Given the description of an element on the screen output the (x, y) to click on. 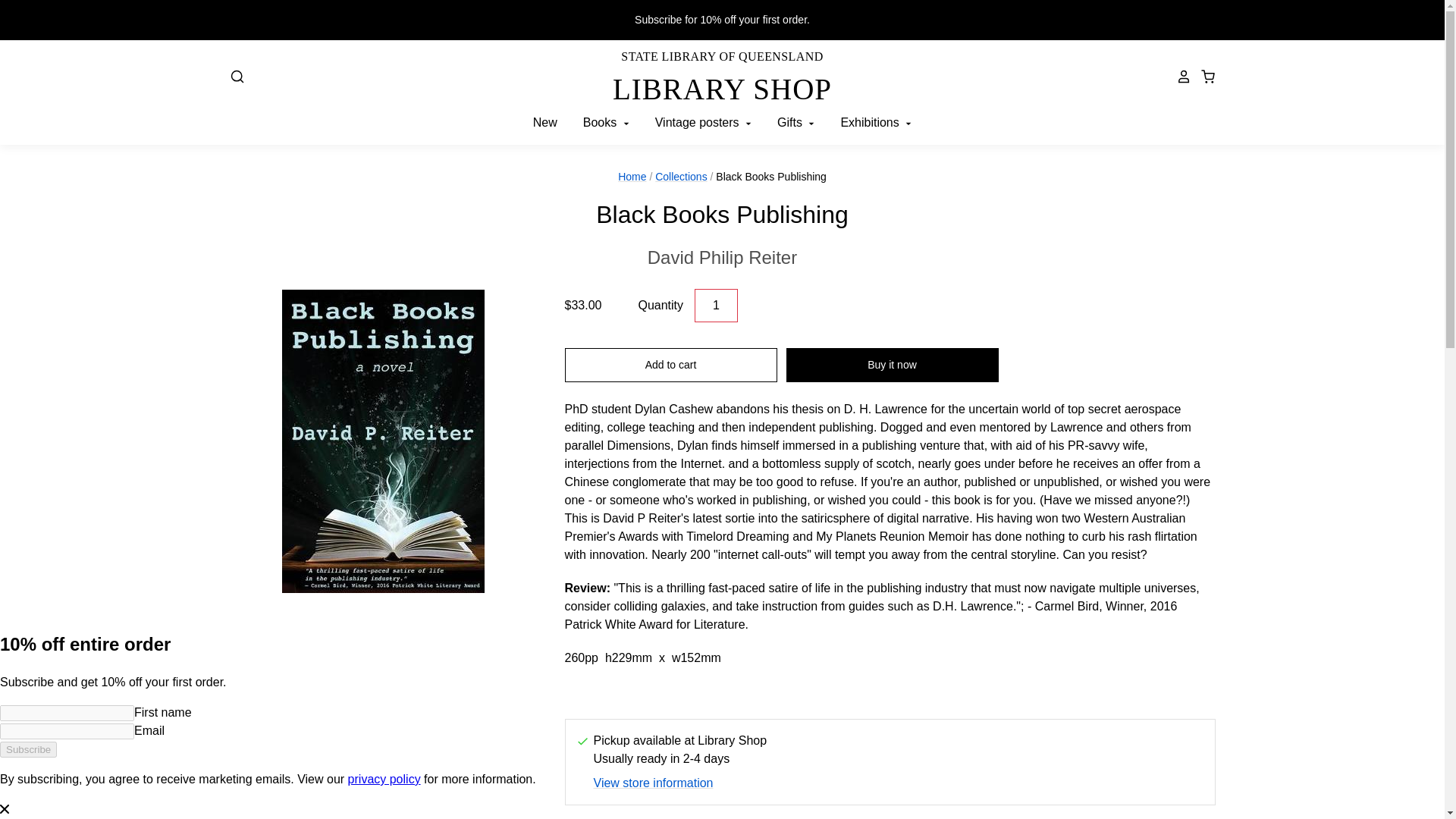
1 (715, 305)
Add to cart (721, 257)
